Given the description of an element on the screen output the (x, y) to click on. 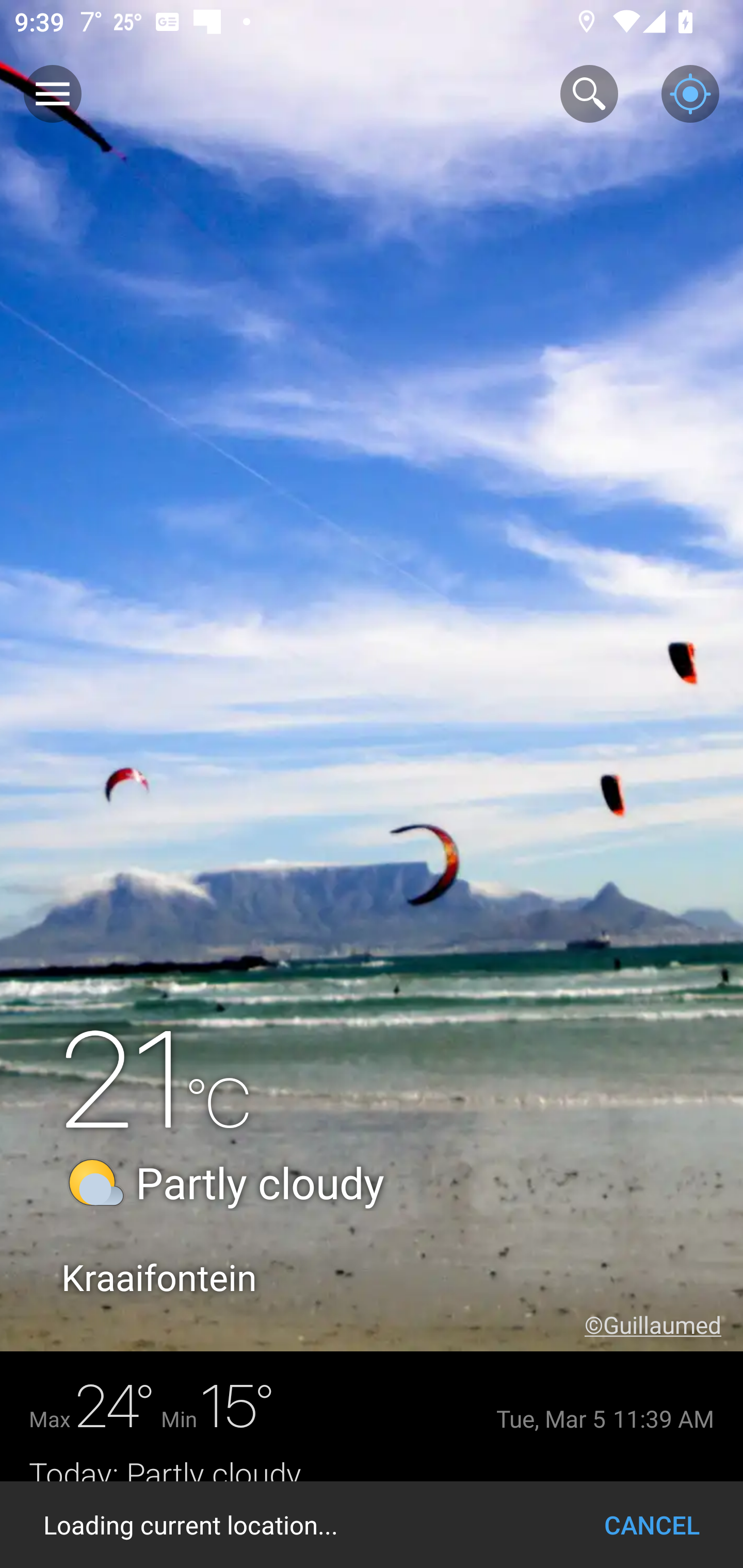
©Guillaumed (663, 1324)
Loading current location... CANCEL (371, 1524)
CANCEL (651, 1524)
